Given the description of an element on the screen output the (x, y) to click on. 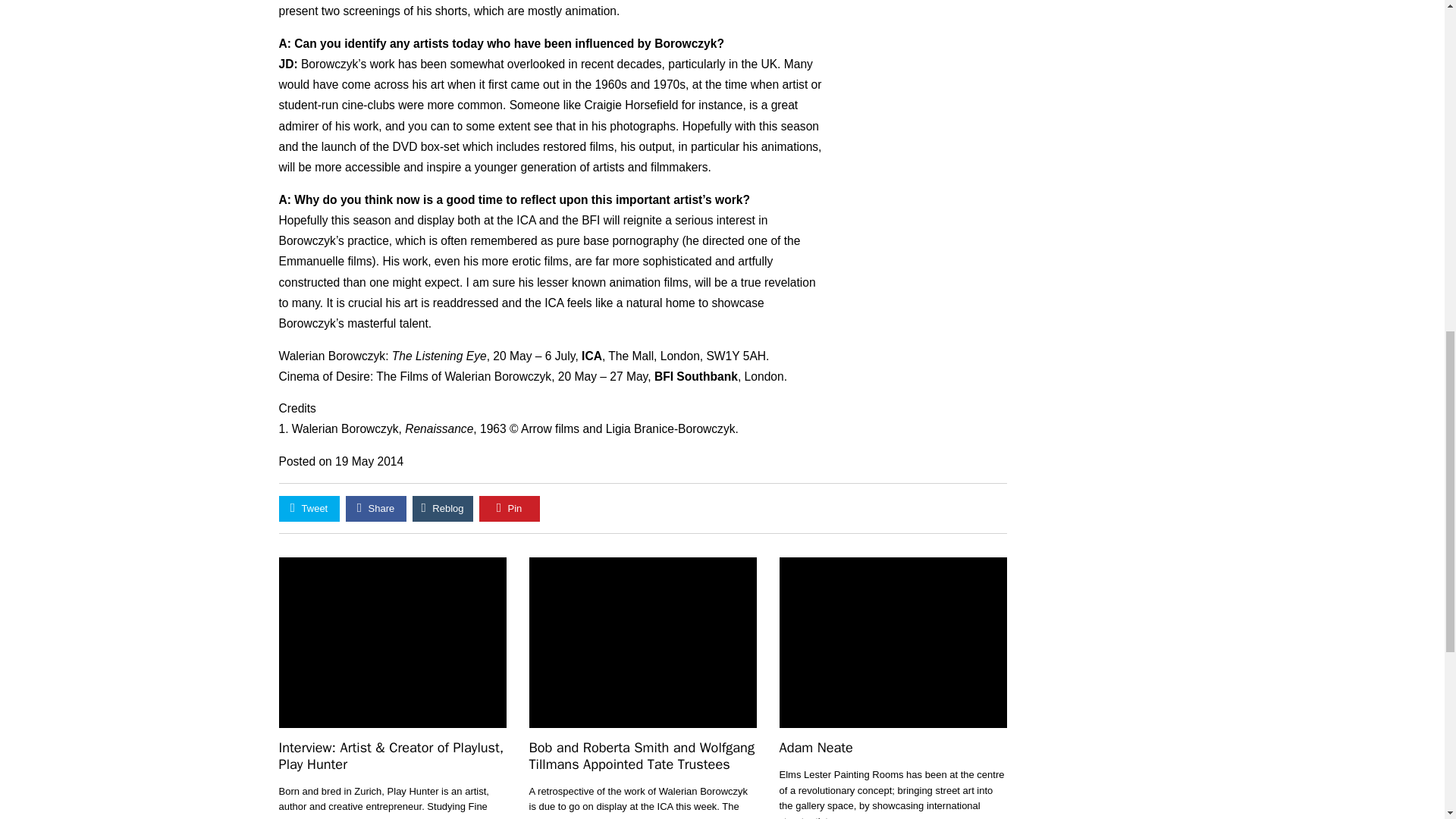
Share (376, 508)
Reblog (442, 508)
Pin (509, 508)
Tweet (309, 508)
ICA (591, 355)
BFI Southbank (695, 376)
